Given the description of an element on the screen output the (x, y) to click on. 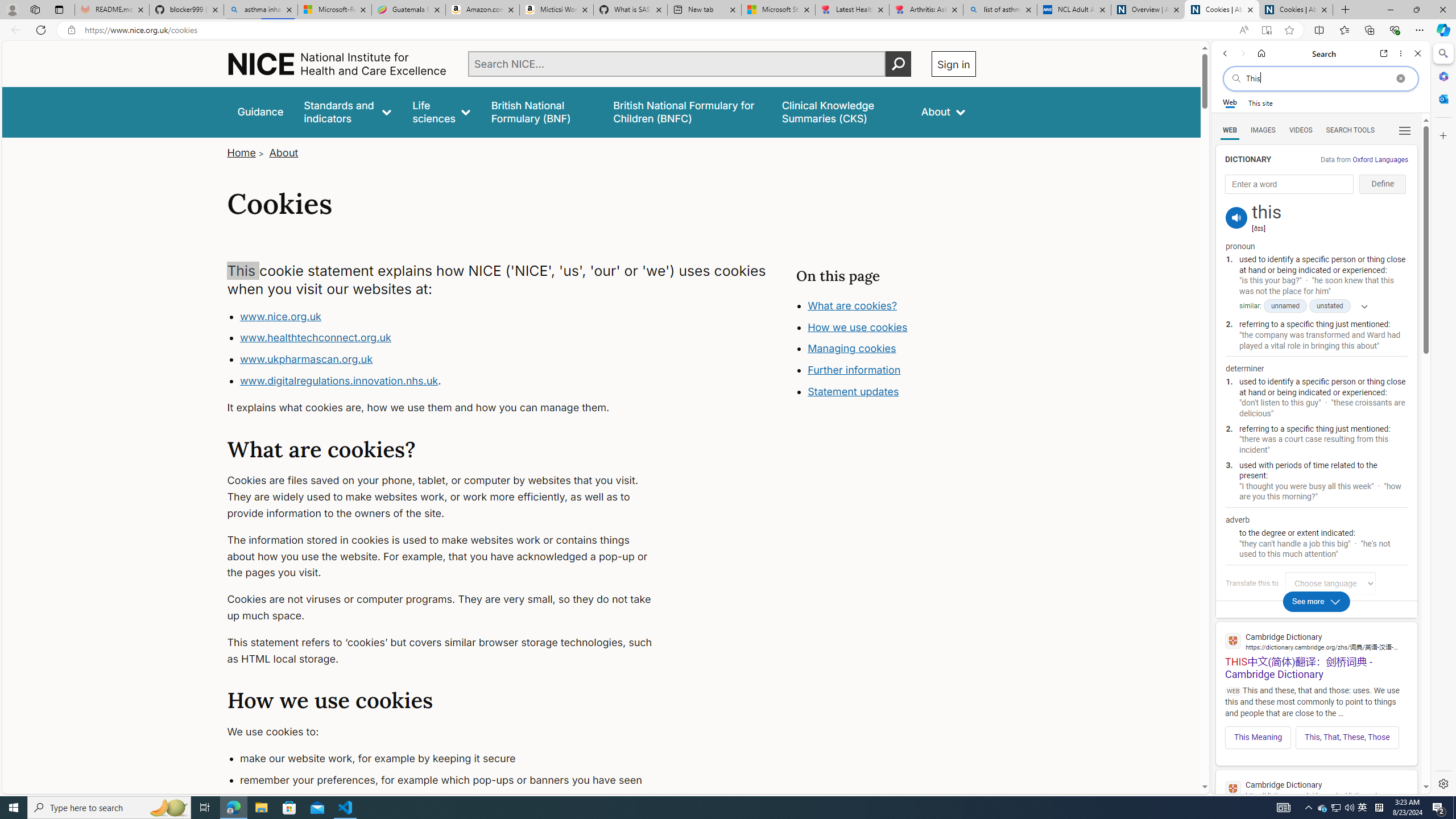
Statement updates (853, 391)
false (841, 111)
unstated (1329, 305)
How we use cookies (857, 327)
Enter a word (1289, 184)
